Given the description of an element on the screen output the (x, y) to click on. 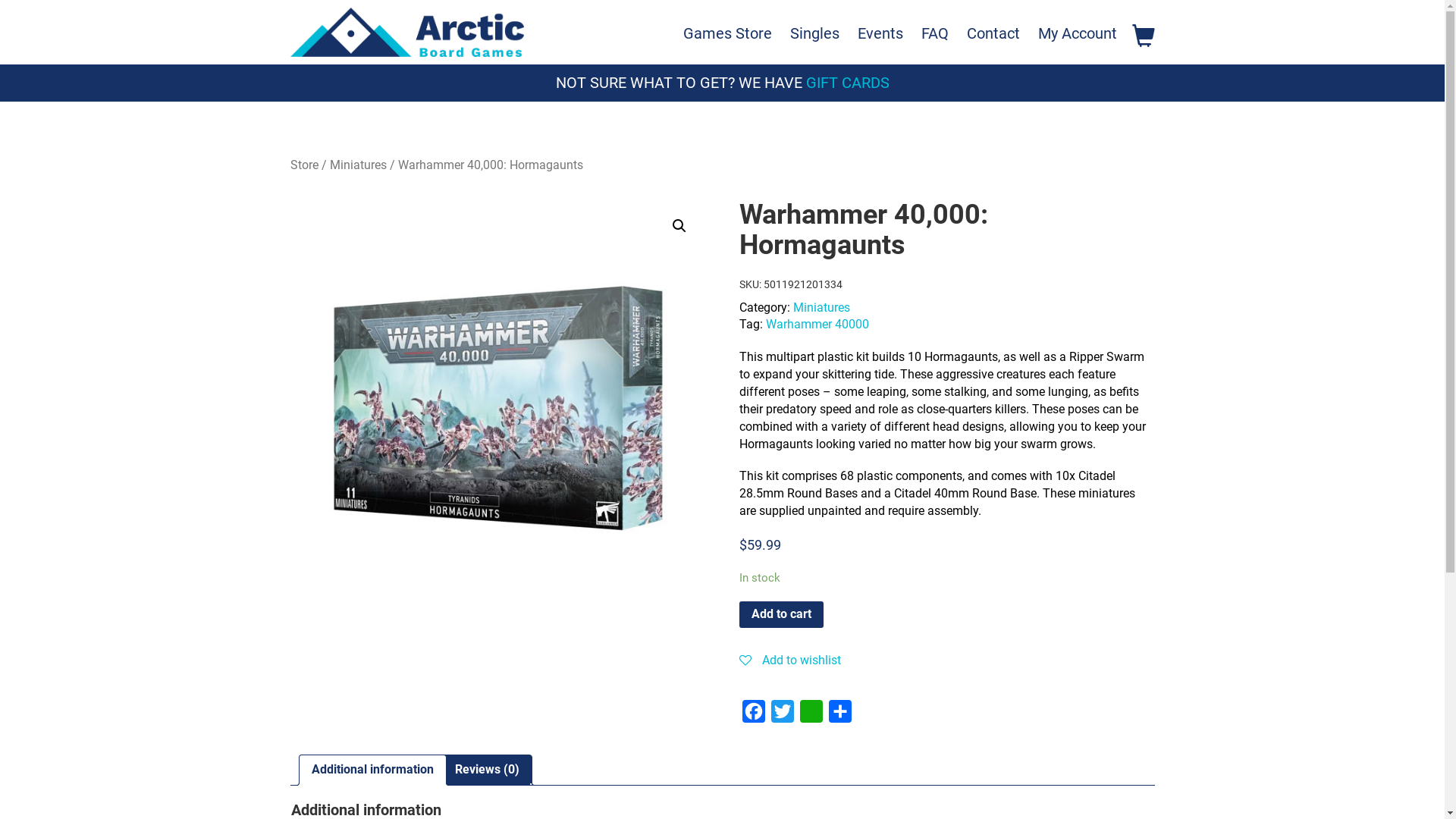
WhatsApp Element type: text (811, 714)
Warhammer 40000 Element type: text (817, 324)
FAQ Element type: text (934, 33)
Store Element type: text (303, 165)
Add to wishlist Element type: text (789, 668)
Miniatures Element type: text (821, 307)
wh-40k-hormagaunts Element type: hover (496, 407)
Additional information Element type: text (371, 769)
Share Element type: text (839, 714)
My Account Element type: text (1076, 33)
Singles Element type: text (814, 33)
Facebook Element type: text (753, 714)
Reviews (0) Element type: text (487, 769)
GIFT CARDS Element type: text (846, 83)
Twitter Element type: text (782, 714)
Miniatures Element type: text (357, 165)
Games Store Element type: text (726, 33)
Events Element type: text (879, 33)
Add to cart Element type: text (781, 614)
Contact Element type: text (992, 33)
